Given the description of an element on the screen output the (x, y) to click on. 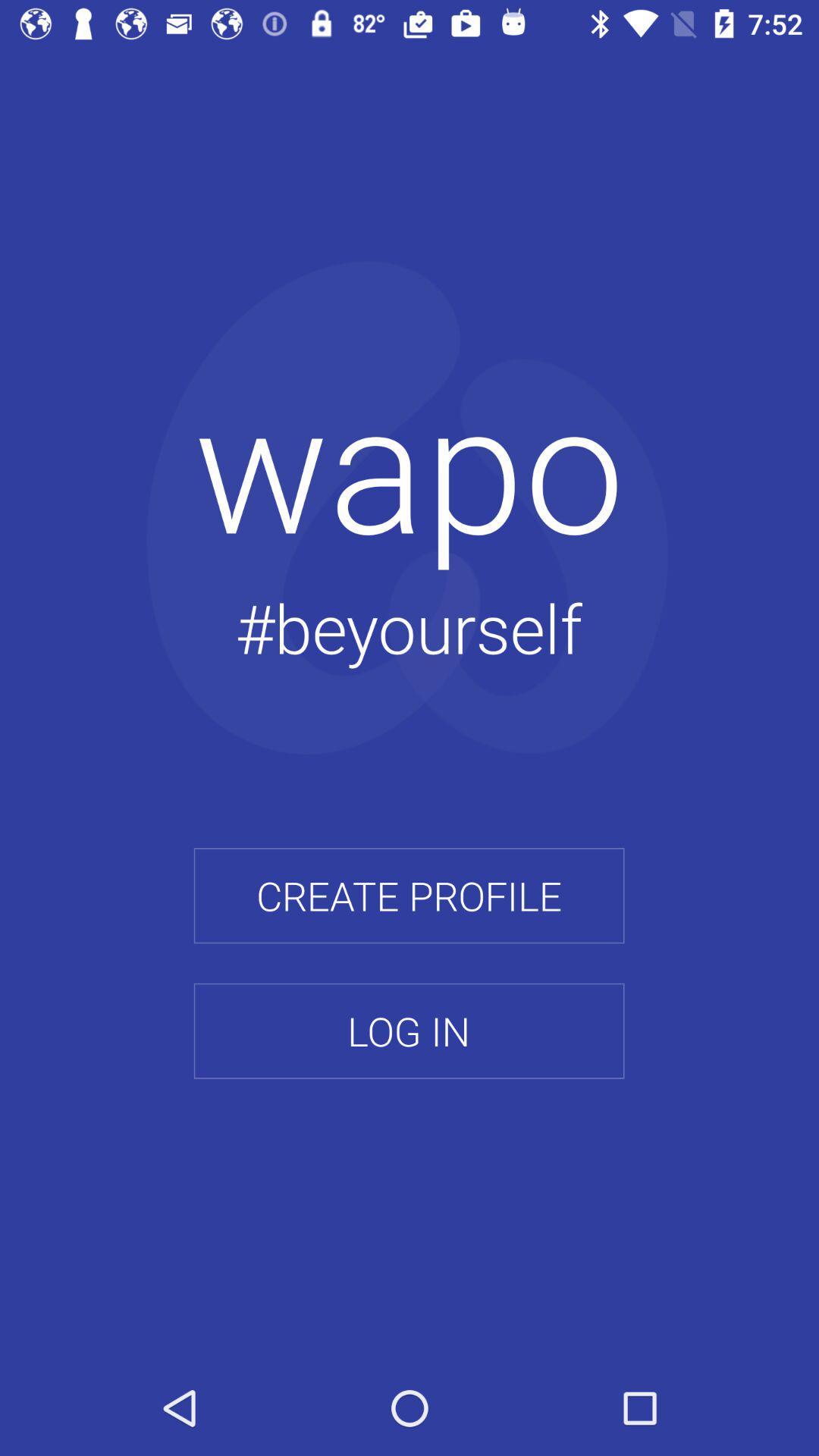
open log in icon (408, 1030)
